Given the description of an element on the screen output the (x, y) to click on. 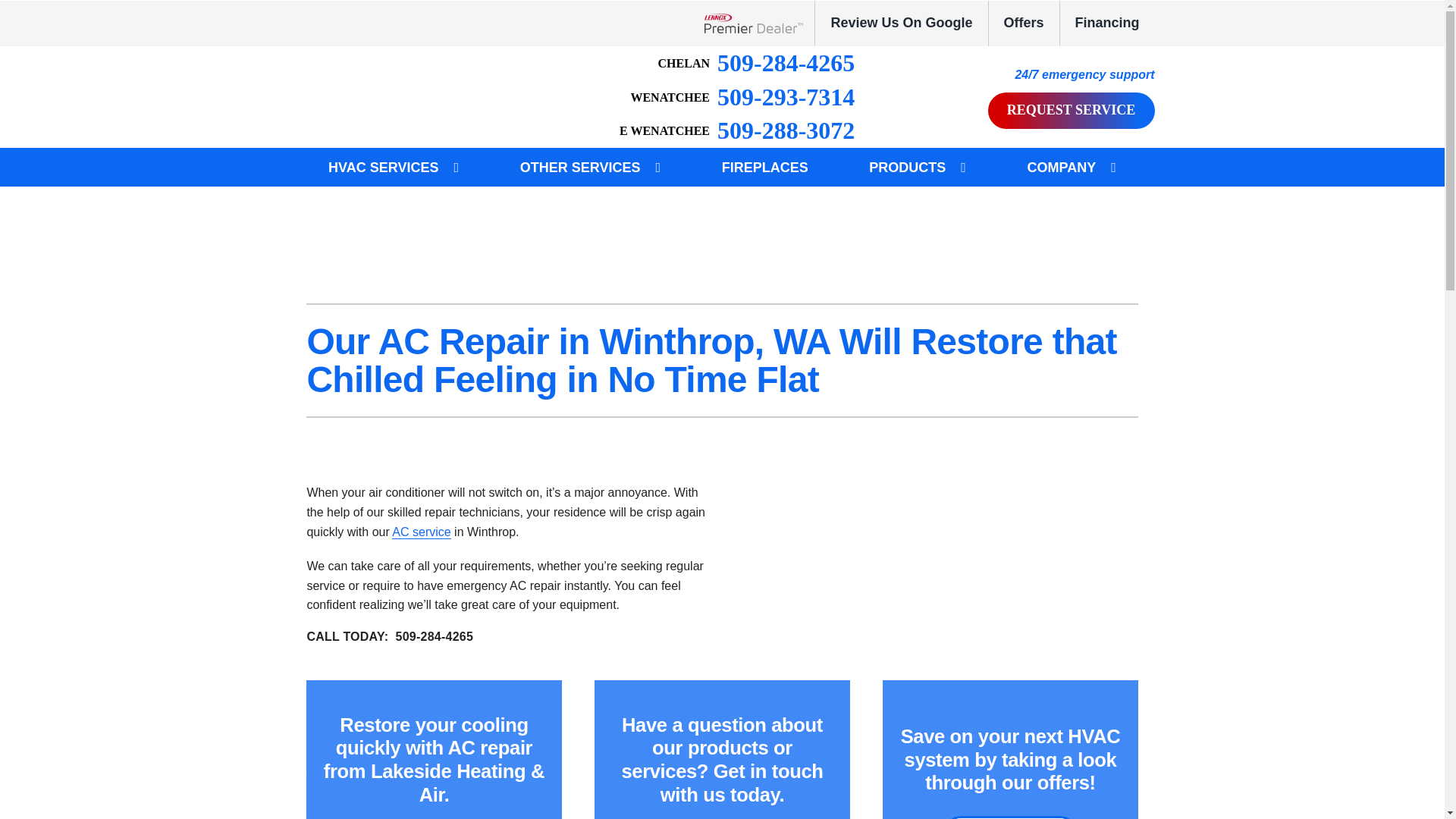
509-284-4265 (757, 62)
Financing (1106, 22)
FIREPLACES (765, 167)
509-293-7314 (742, 97)
HVAC SERVICES (382, 167)
Offers (1023, 22)
PRODUCTS (906, 167)
REQUEST SERVICE (1071, 110)
OTHER SERVICES (580, 167)
509-288-3072 (737, 130)
